Given the description of an element on the screen output the (x, y) to click on. 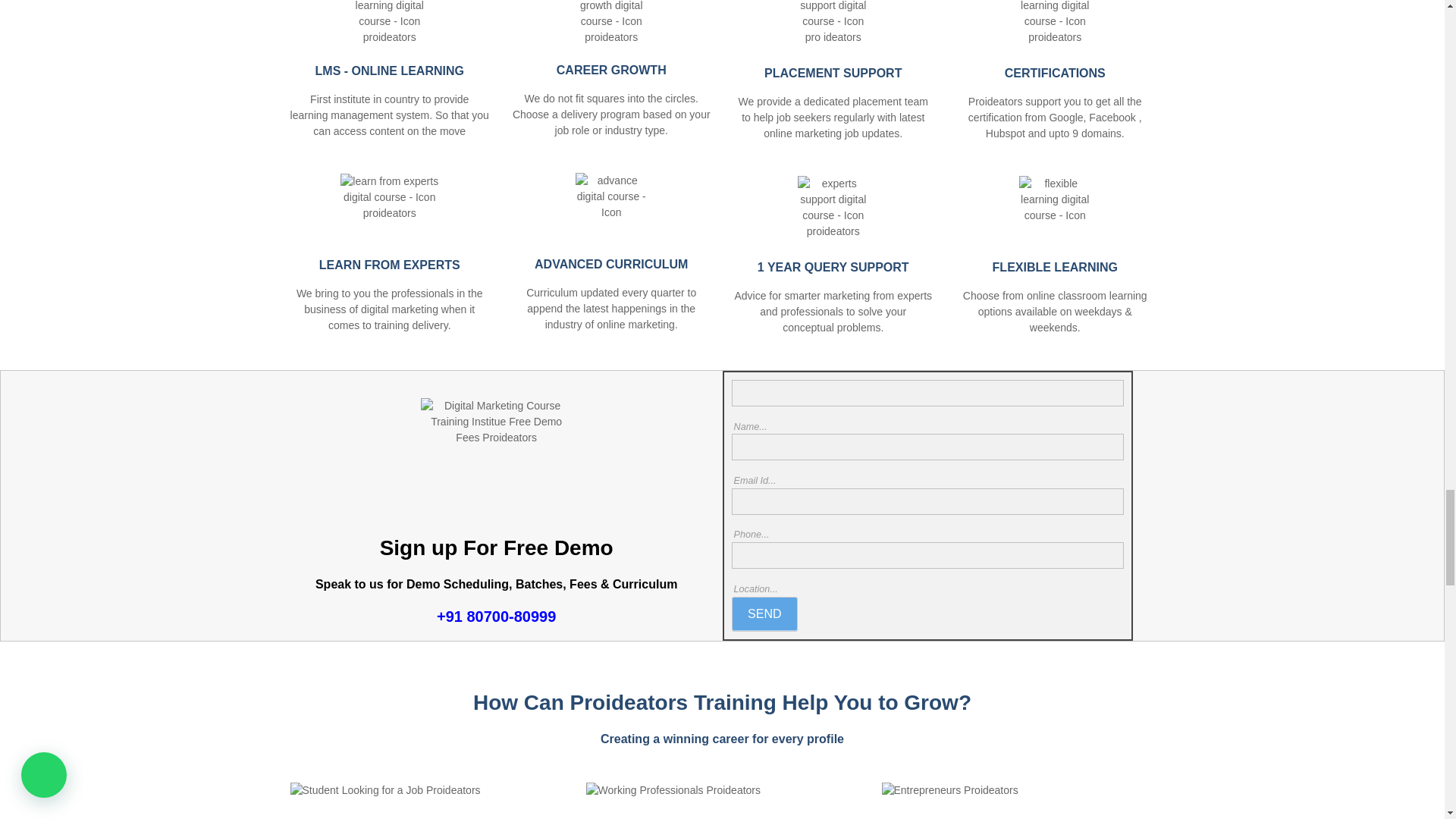
Entrepreneurs (1017, 800)
Working Professionals (722, 800)
Looking for a job (425, 800)
